Given the description of an element on the screen output the (x, y) to click on. 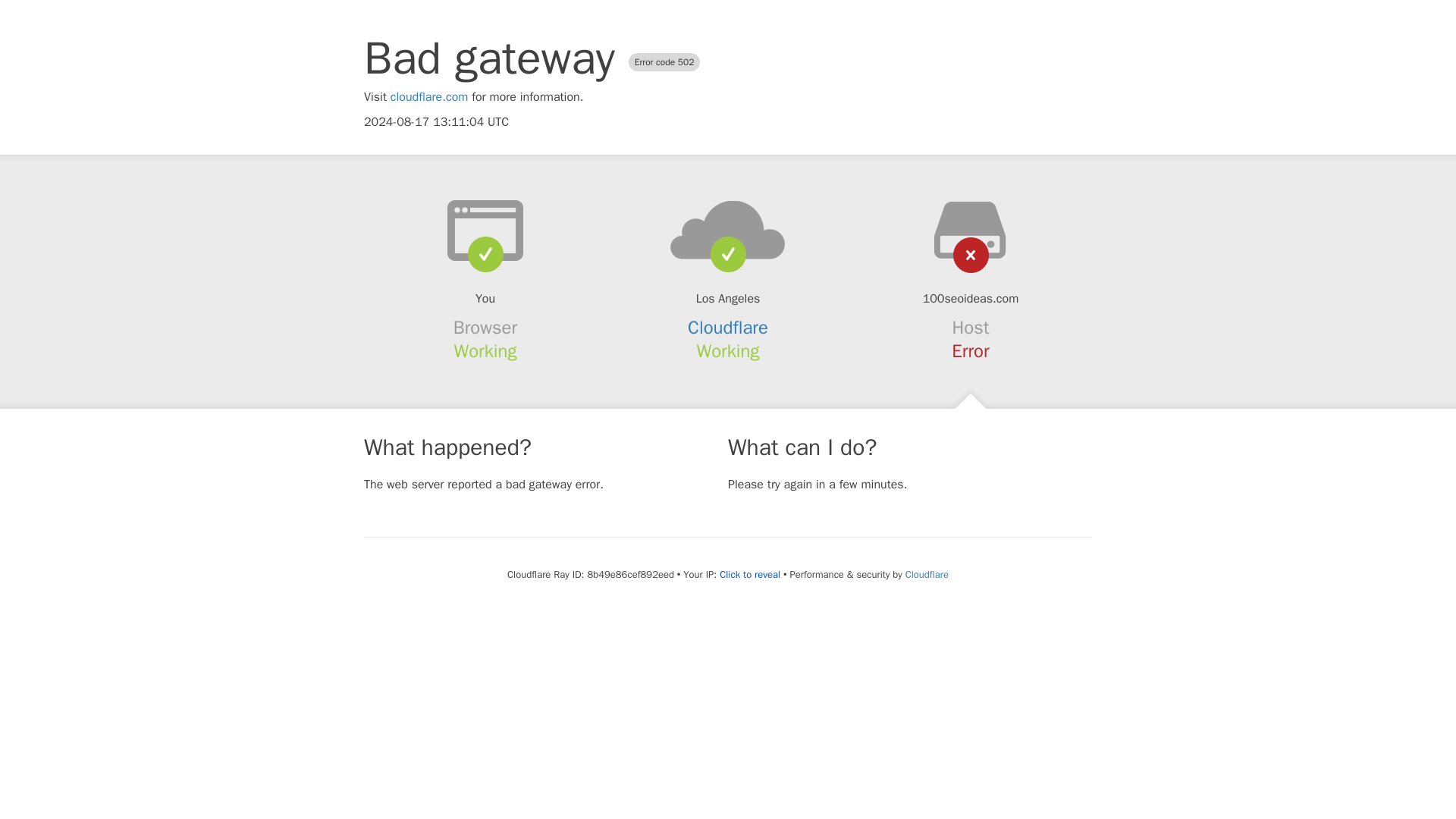
Click to reveal (749, 574)
Cloudflare (927, 574)
Cloudflare (727, 327)
cloudflare.com (429, 96)
